Given the description of an element on the screen output the (x, y) to click on. 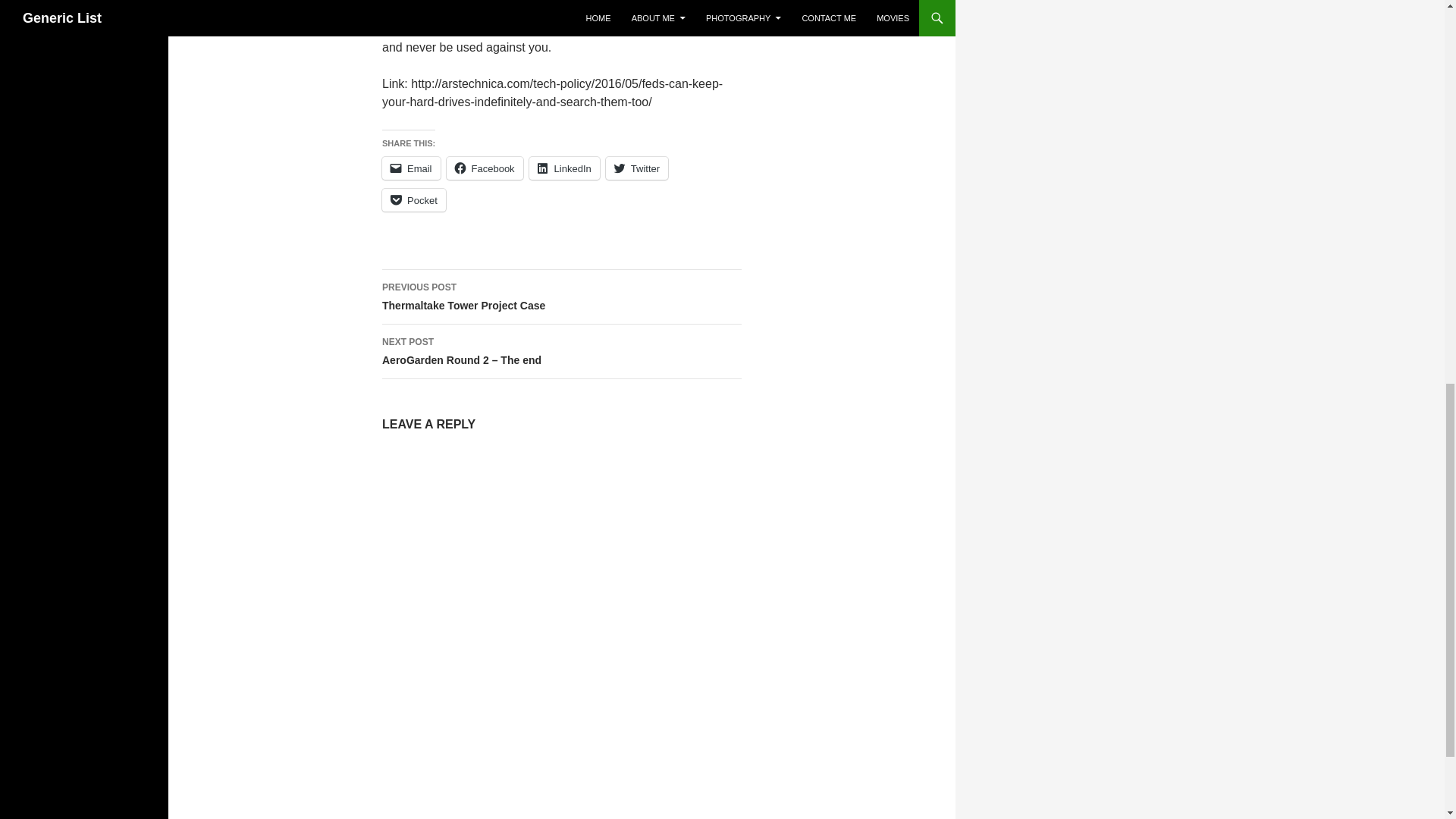
Click to share on LinkedIn (564, 168)
Pocket (413, 200)
Click to share on Twitter (561, 297)
Click to share on Facebook (636, 168)
Email (484, 168)
Comment Form (411, 168)
Twitter (561, 615)
Click to email a link to a friend (636, 168)
LinkedIn (411, 168)
